Given the description of an element on the screen output the (x, y) to click on. 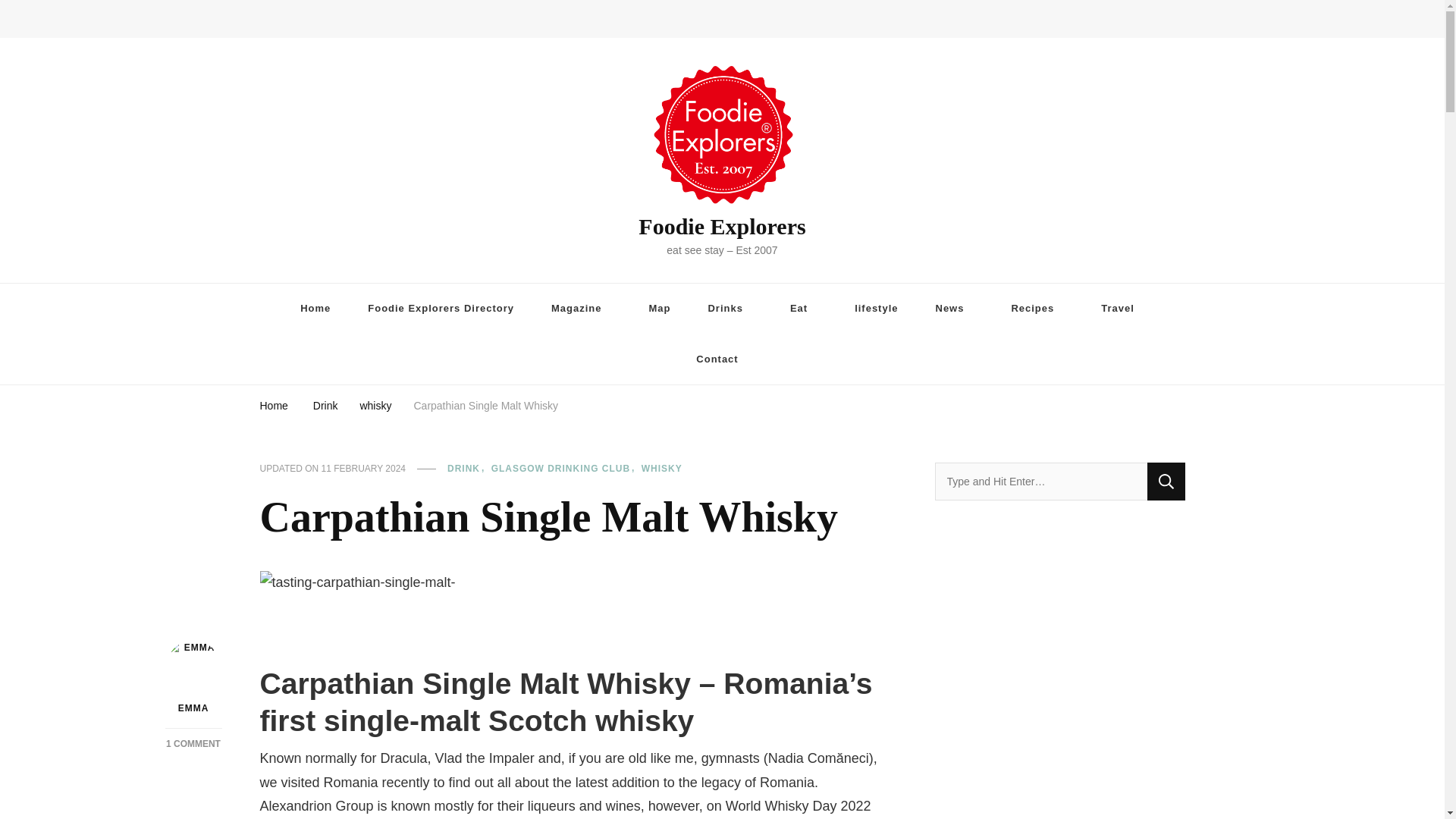
Search (1166, 481)
Foodie Explorers Directory (440, 308)
Foodie Explorers (722, 226)
Map (659, 308)
Drinks (729, 308)
Search (1166, 481)
lifestyle (876, 308)
News (954, 308)
Eat (803, 308)
Magazine (580, 308)
